Given the description of an element on the screen output the (x, y) to click on. 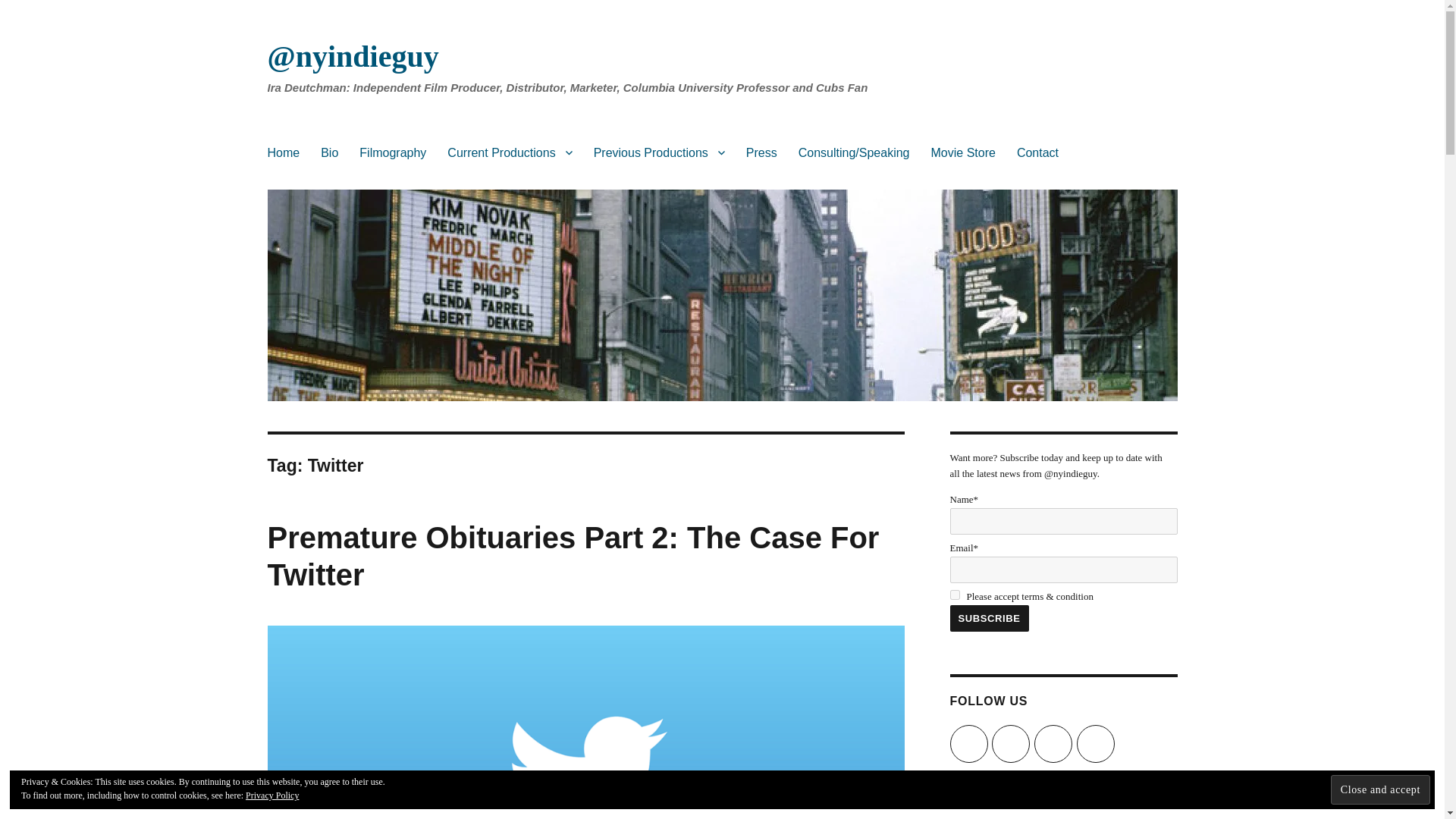
Close and accept (1379, 789)
Press (761, 152)
Home (283, 152)
Premature Obituaries Part 2: The Case For Twitter (572, 555)
Contact (1037, 152)
Movie Store (963, 152)
Current Productions (509, 152)
Previous Productions (659, 152)
Bio (329, 152)
Subscribe (988, 618)
